Given the description of an element on the screen output the (x, y) to click on. 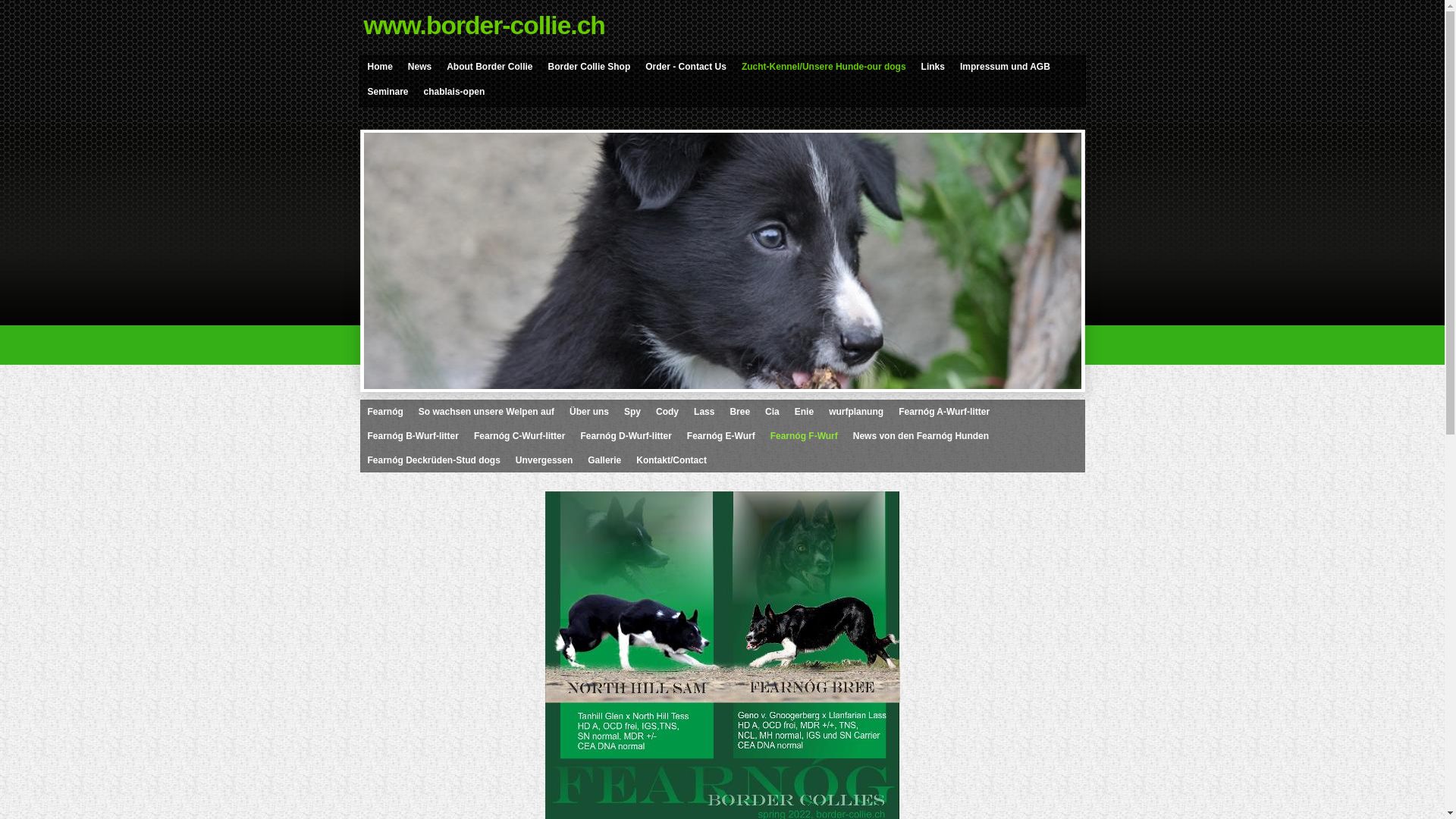
Seminare Element type: text (388, 91)
So wachsen unsere Welpen auf Element type: text (486, 411)
Kontakt/Contact Element type: text (671, 460)
Cia Element type: text (772, 411)
Order - Contact Us Element type: text (685, 66)
Cody Element type: text (667, 411)
Home Element type: text (380, 66)
Impressum und AGB Element type: text (1005, 66)
Spy Element type: text (632, 411)
About Border Collie Element type: text (489, 66)
News Element type: text (419, 66)
Bree Element type: text (739, 411)
Gallerie Element type: text (603, 460)
Unvergessen Element type: text (543, 460)
Links Element type: text (932, 66)
wurfplanung Element type: text (856, 411)
www.border-collie.ch Element type: text (724, 25)
chablais-open Element type: text (454, 91)
Lass Element type: text (704, 411)
Zucht-Kennel/Unsere Hunde-our dogs Element type: text (823, 66)
Border Collie Shop Element type: text (589, 66)
Enie Element type: text (803, 411)
